Given the description of an element on the screen output the (x, y) to click on. 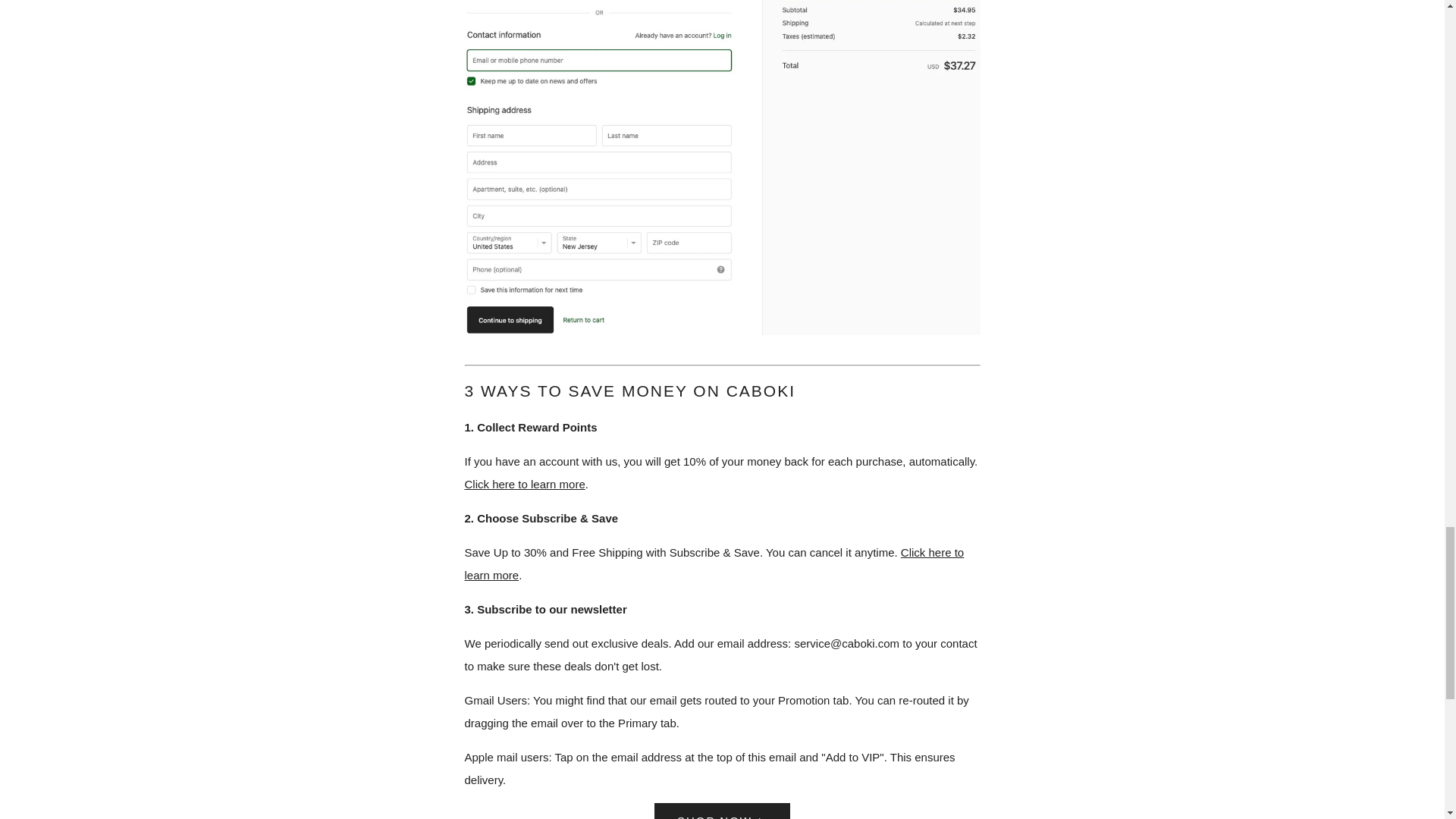
SHOP NOW (721, 811)
Click here to learn more (713, 563)
Click here to learn more (524, 483)
